Given the description of an element on the screen output the (x, y) to click on. 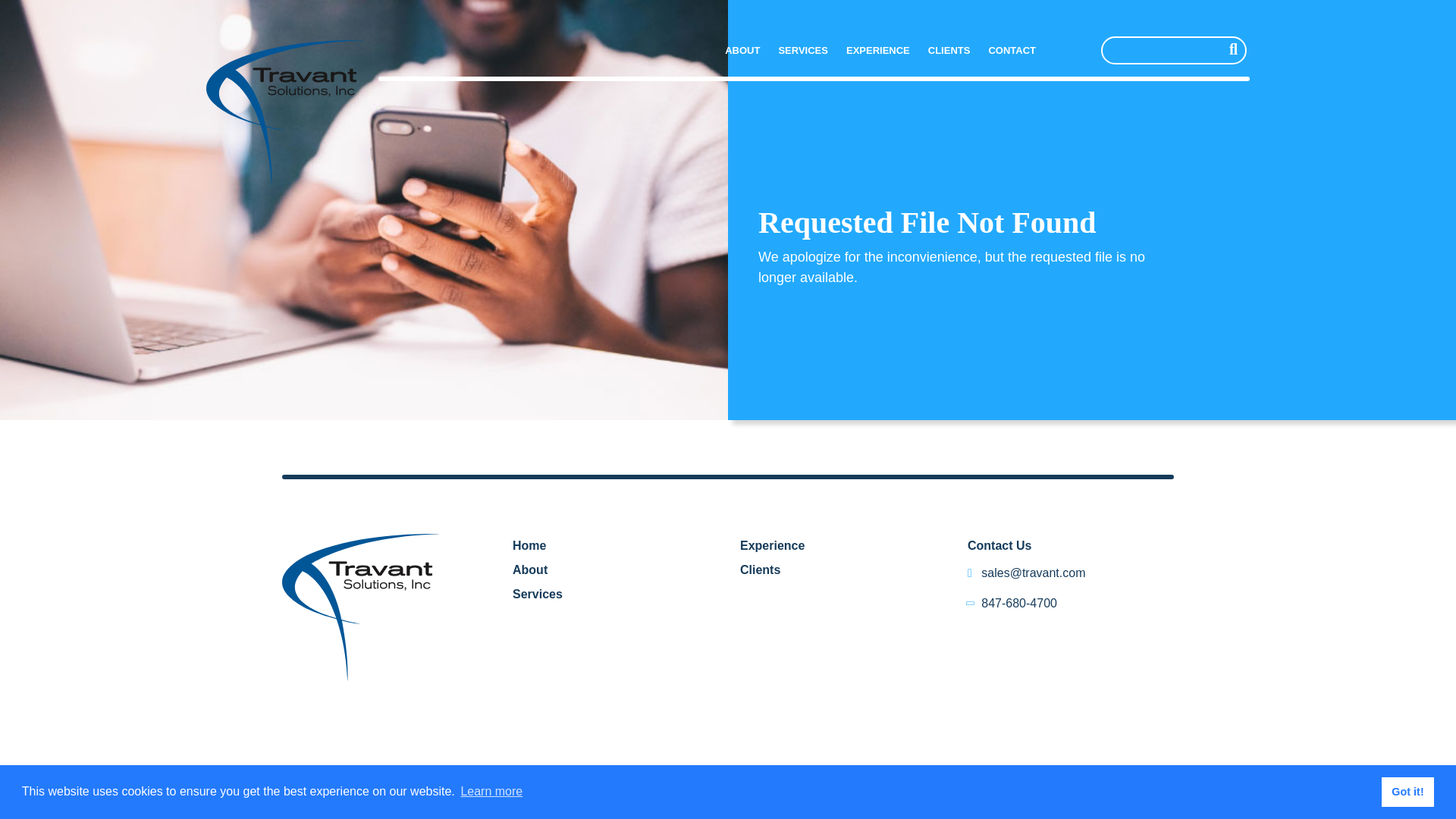
ABOUT (742, 50)
SERVICES (802, 50)
CLIENTS (948, 50)
Contact Us (999, 545)
CONTACT (1011, 50)
EXPERIENCE (877, 50)
Services (537, 594)
About (529, 569)
Home (529, 545)
Experience (772, 545)
Clients (759, 569)
